Given the description of an element on the screen output the (x, y) to click on. 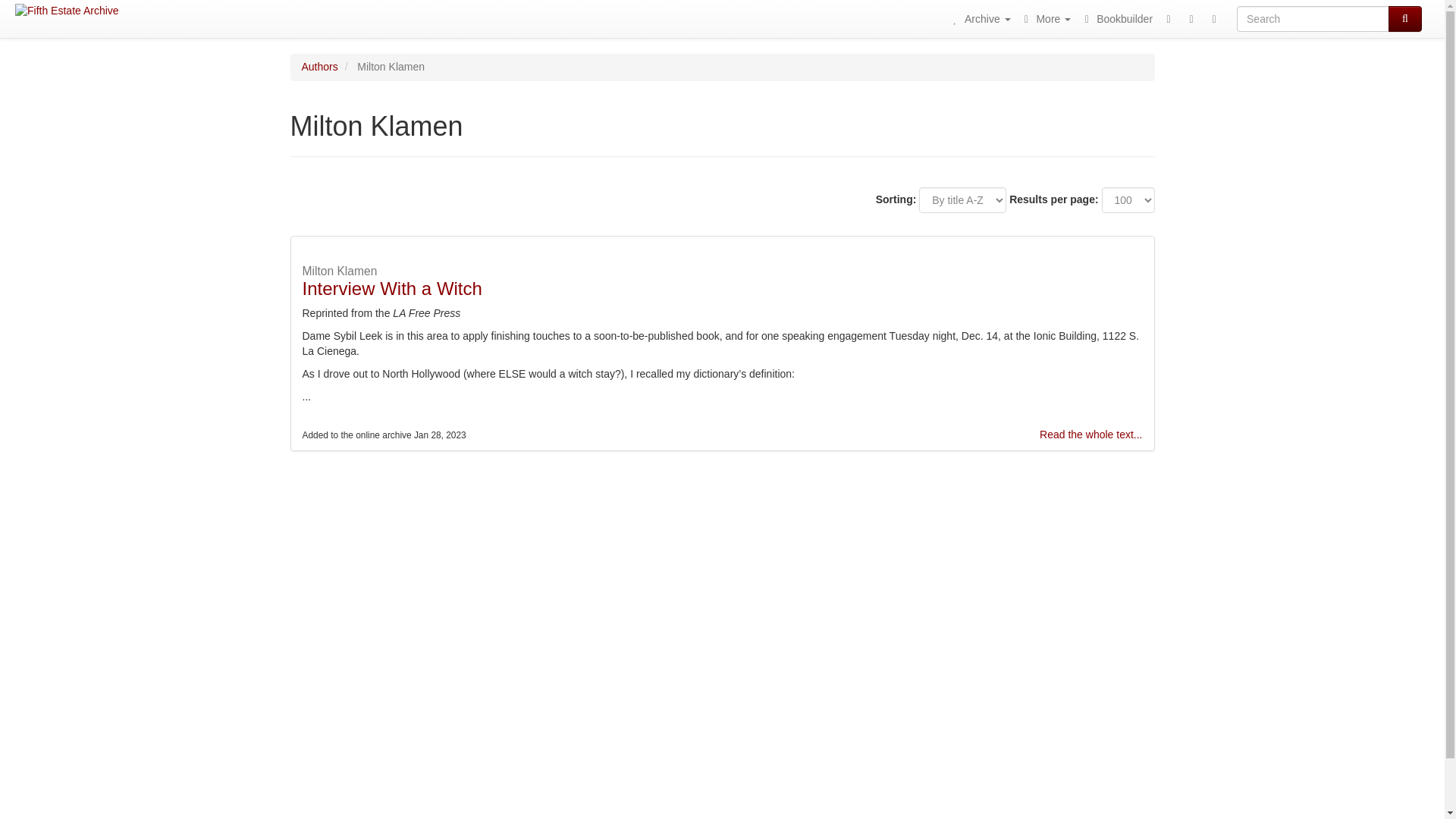
Search (1405, 18)
Authors (319, 66)
Read the whole text... (1090, 434)
Bookbuilder (1116, 18)
Archive (978, 18)
More (1044, 18)
Interview With a Witch (391, 288)
about, links... (1044, 18)
Fifth Estate Archive (66, 11)
texts by authors, title, topic... (978, 18)
Bookbuilder (1116, 18)
